Given the description of an element on the screen output the (x, y) to click on. 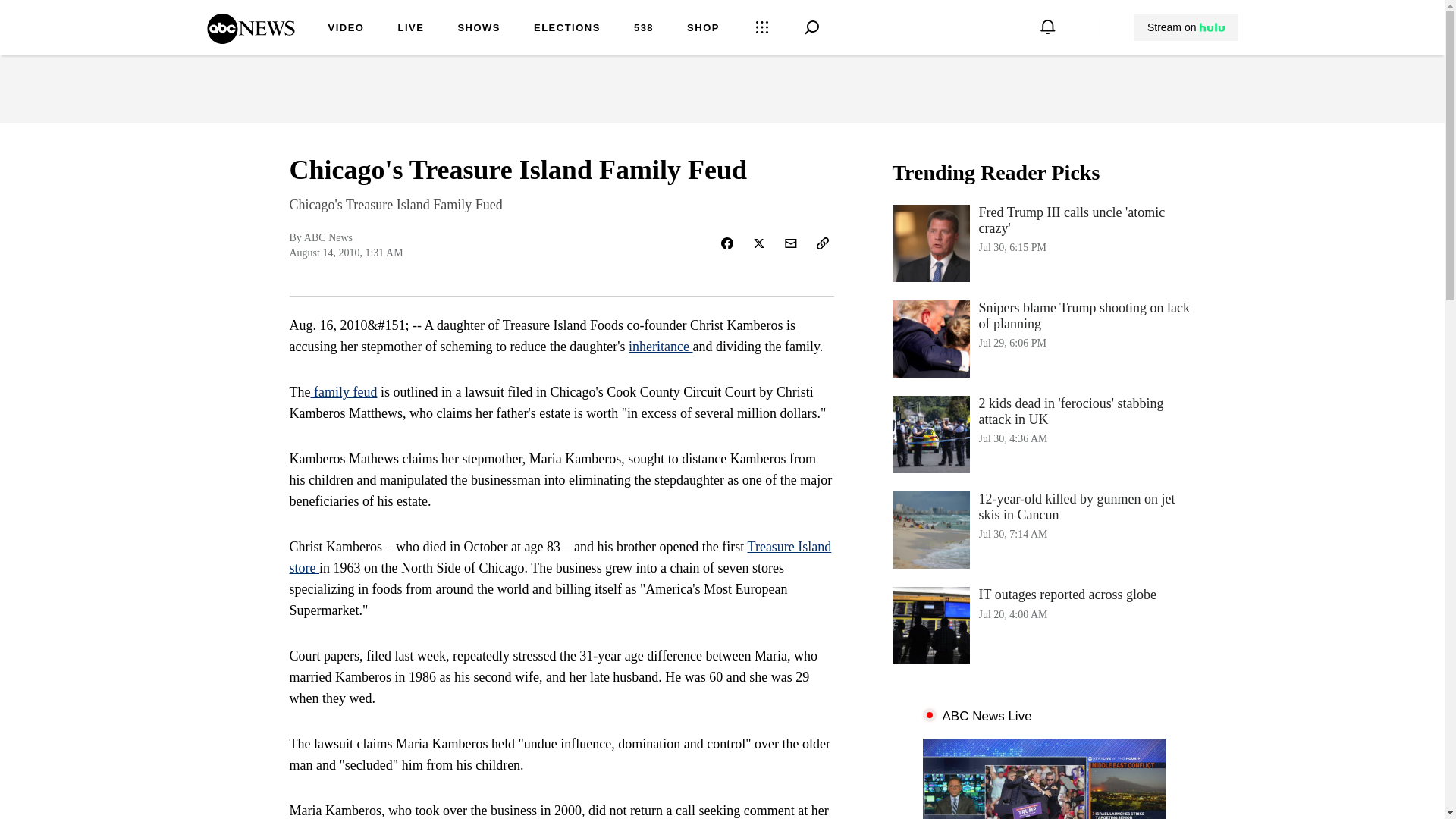
LIVE (410, 28)
inheritance (660, 346)
Treasure Island store (560, 556)
ELECTIONS (1043, 242)
Stream on (566, 28)
SHOWS (1185, 27)
VIDEO (478, 28)
ABC News (345, 28)
SHOP (250, 38)
family feud (703, 28)
